Given the description of an element on the screen output the (x, y) to click on. 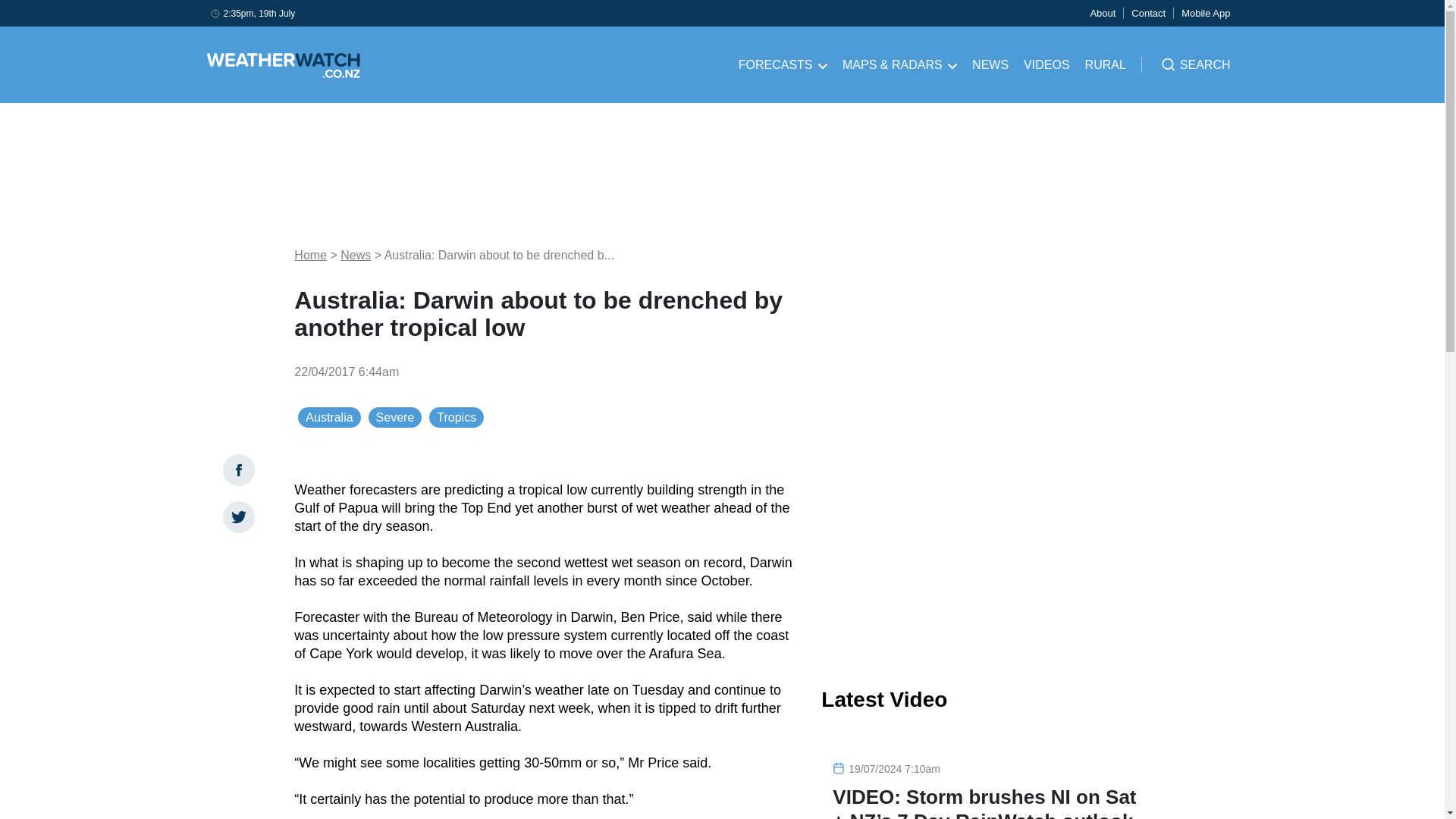
Mobile App (1205, 12)
FORECASTS (782, 64)
Contact (1148, 12)
About (1102, 12)
3rd party ad content (985, 548)
